Given the description of an element on the screen output the (x, y) to click on. 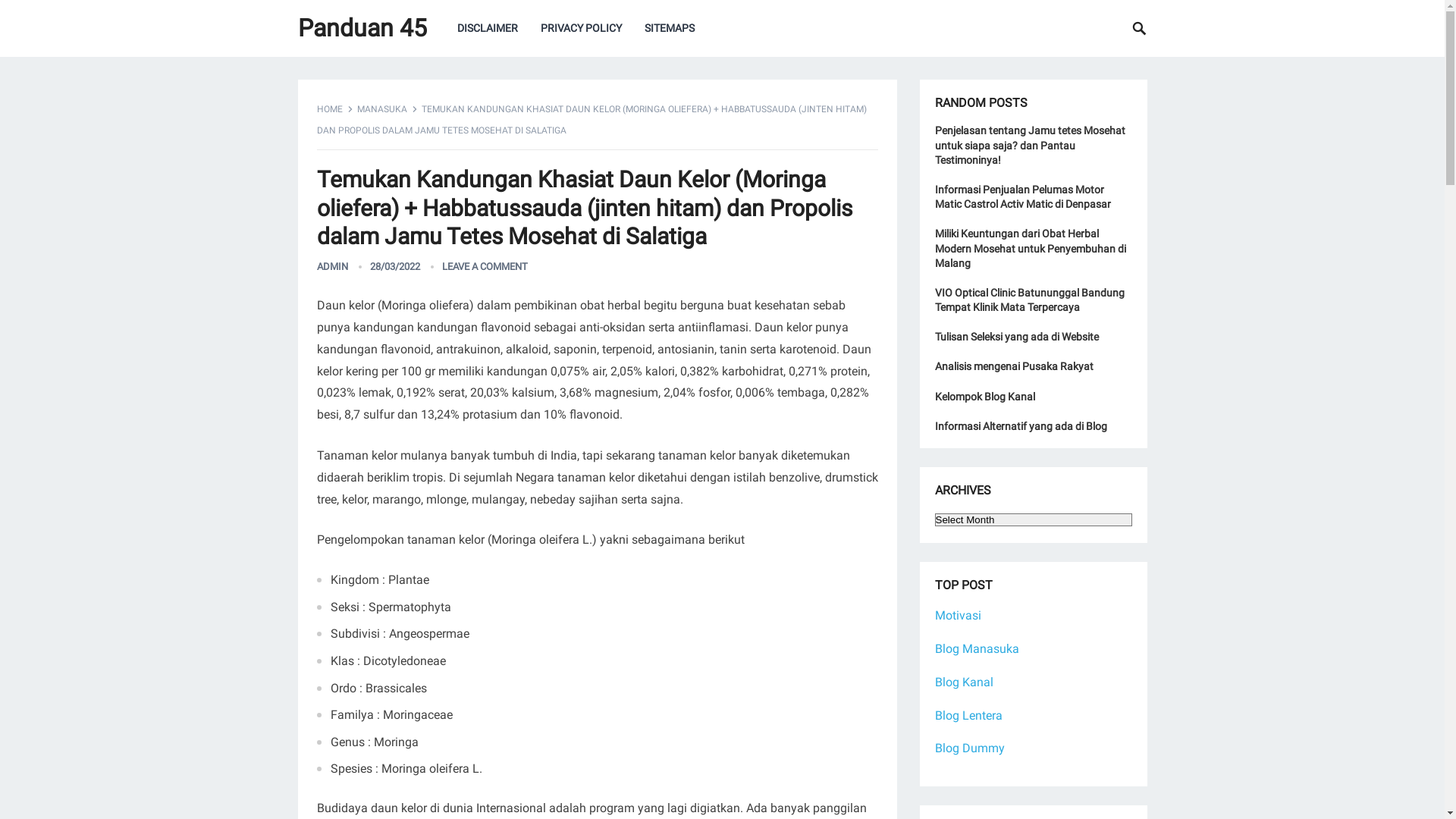
Analisis mengenai Pusaka Rakyat Element type: text (1013, 366)
Kelompok Blog Kanal Element type: text (984, 396)
Informasi Alternatif yang ada di Blog Element type: text (1020, 426)
MANASUKA Element type: text (386, 108)
Blog Manasuka Element type: text (976, 648)
HOME Element type: text (334, 108)
Tulisan Seleksi yang ada di Website Element type: text (1016, 336)
Blog Dummy Element type: text (969, 747)
Blog Kanal Element type: text (963, 681)
PRIVACY POLICY Element type: text (581, 28)
Panduan 45 Element type: text (361, 28)
Blog Lentera Element type: text (967, 715)
SITEMAPS Element type: text (668, 28)
DISCLAIMER Element type: text (487, 28)
ADMIN Element type: text (332, 266)
Motivasi Element type: text (957, 615)
LEAVE A COMMENT Element type: text (484, 266)
